Given the description of an element on the screen output the (x, y) to click on. 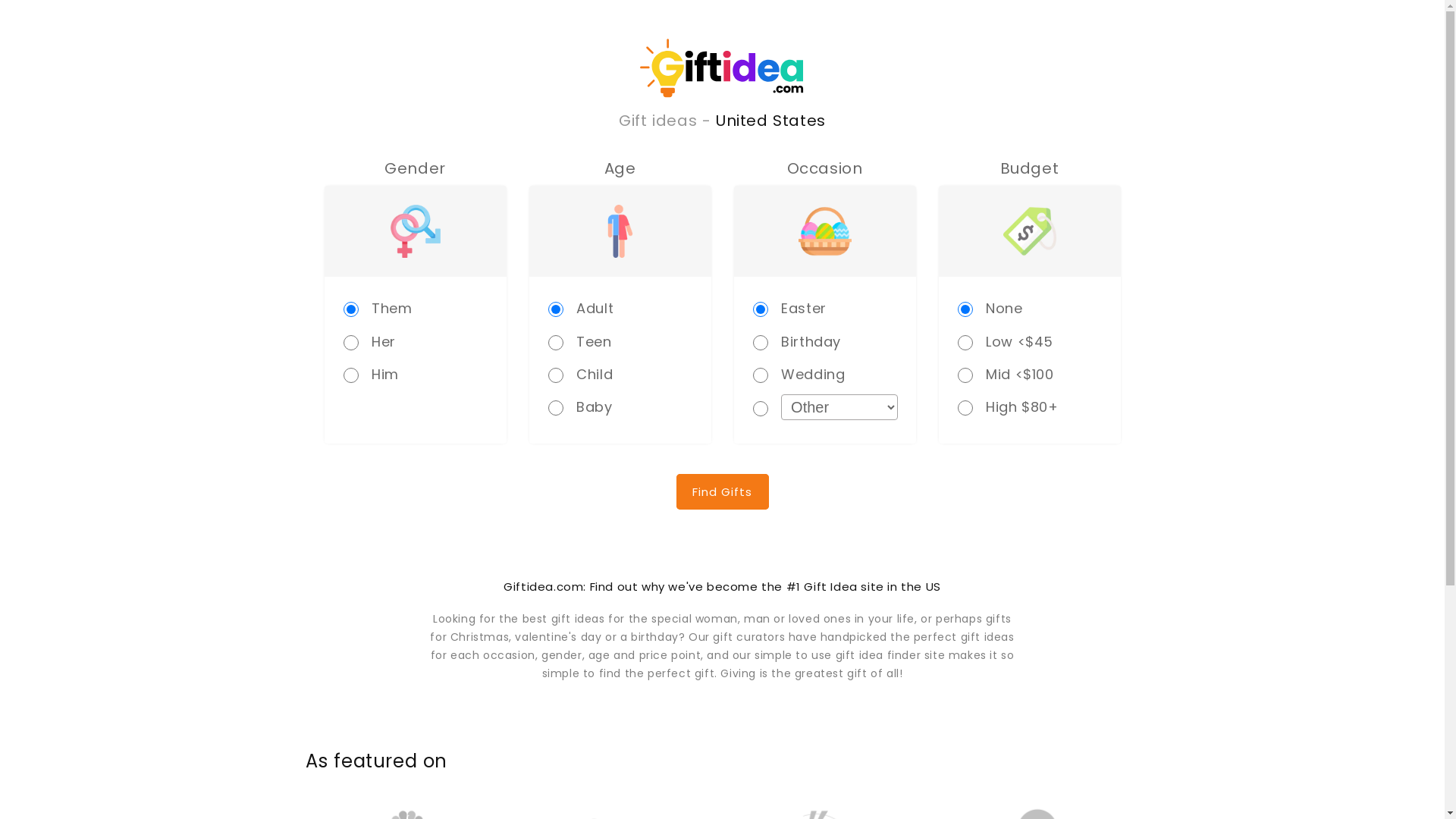
Find Gifts Element type: text (722, 491)
United States Element type: text (770, 120)
